Given the description of an element on the screen output the (x, y) to click on. 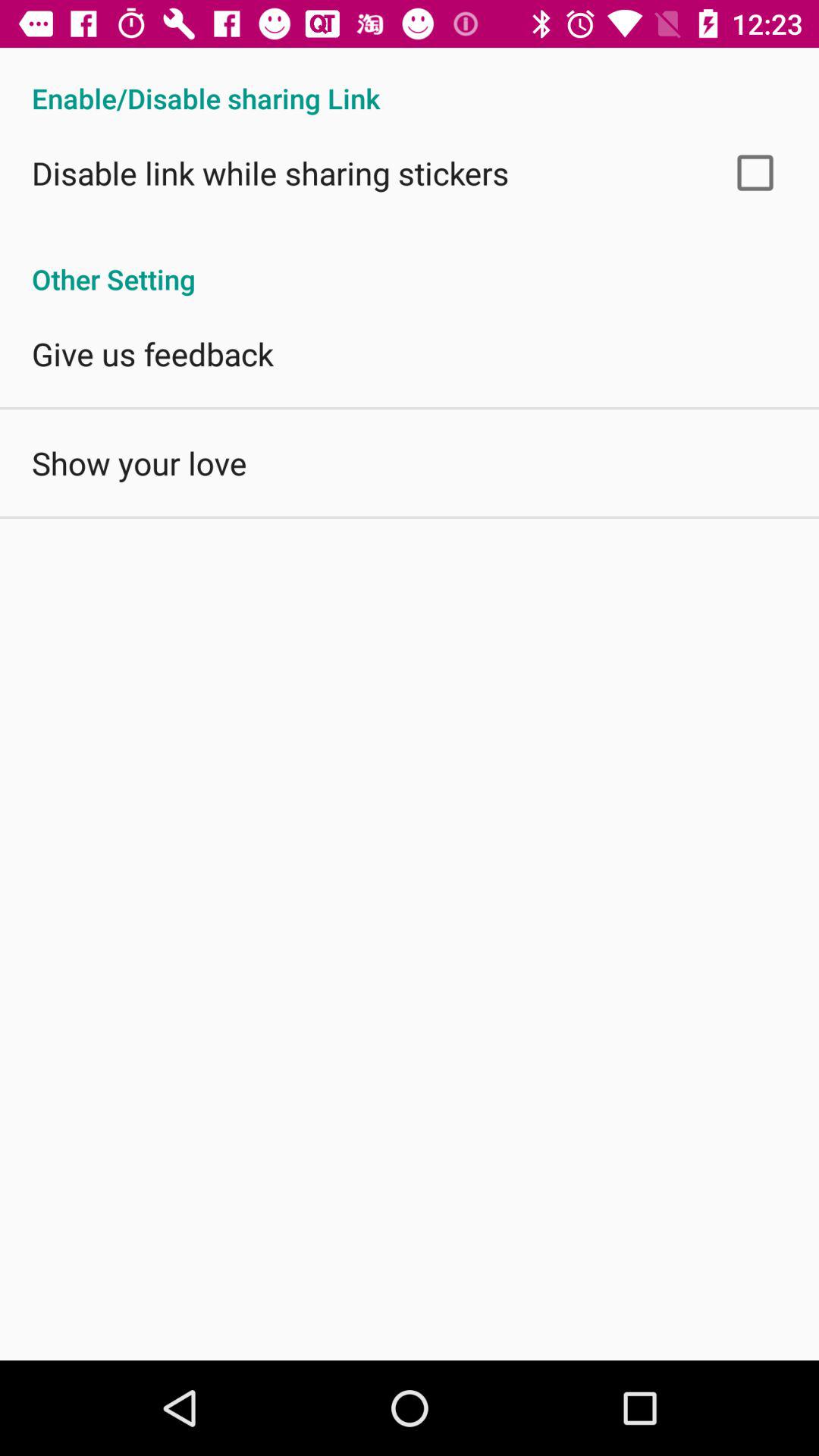
flip until enable disable sharing item (409, 82)
